Given the description of an element on the screen output the (x, y) to click on. 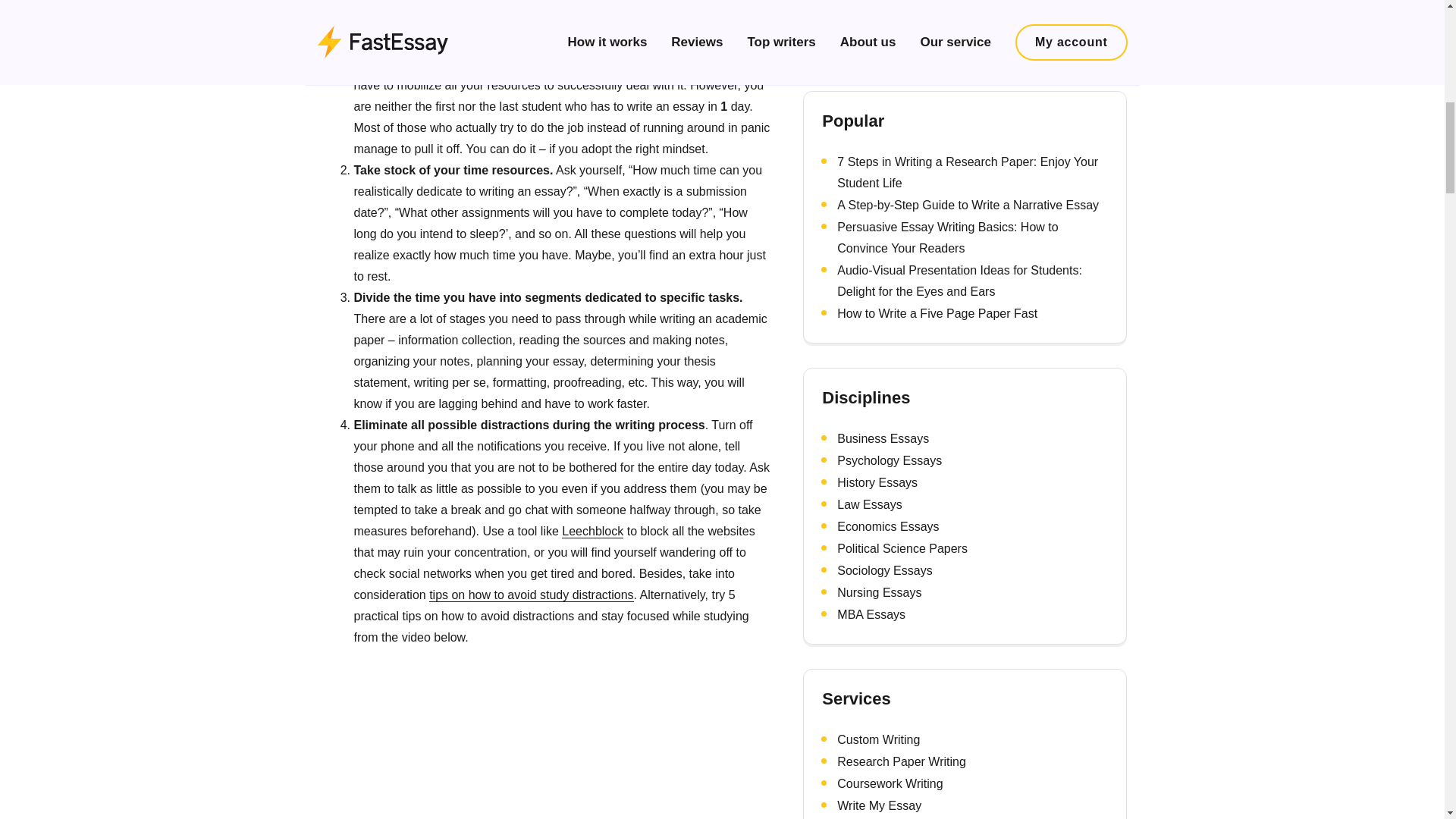
tips on how to avoid study distractions (531, 594)
Leechblock (592, 530)
How to Write a Literature Review Fast (939, 13)
